Given the description of an element on the screen output the (x, y) to click on. 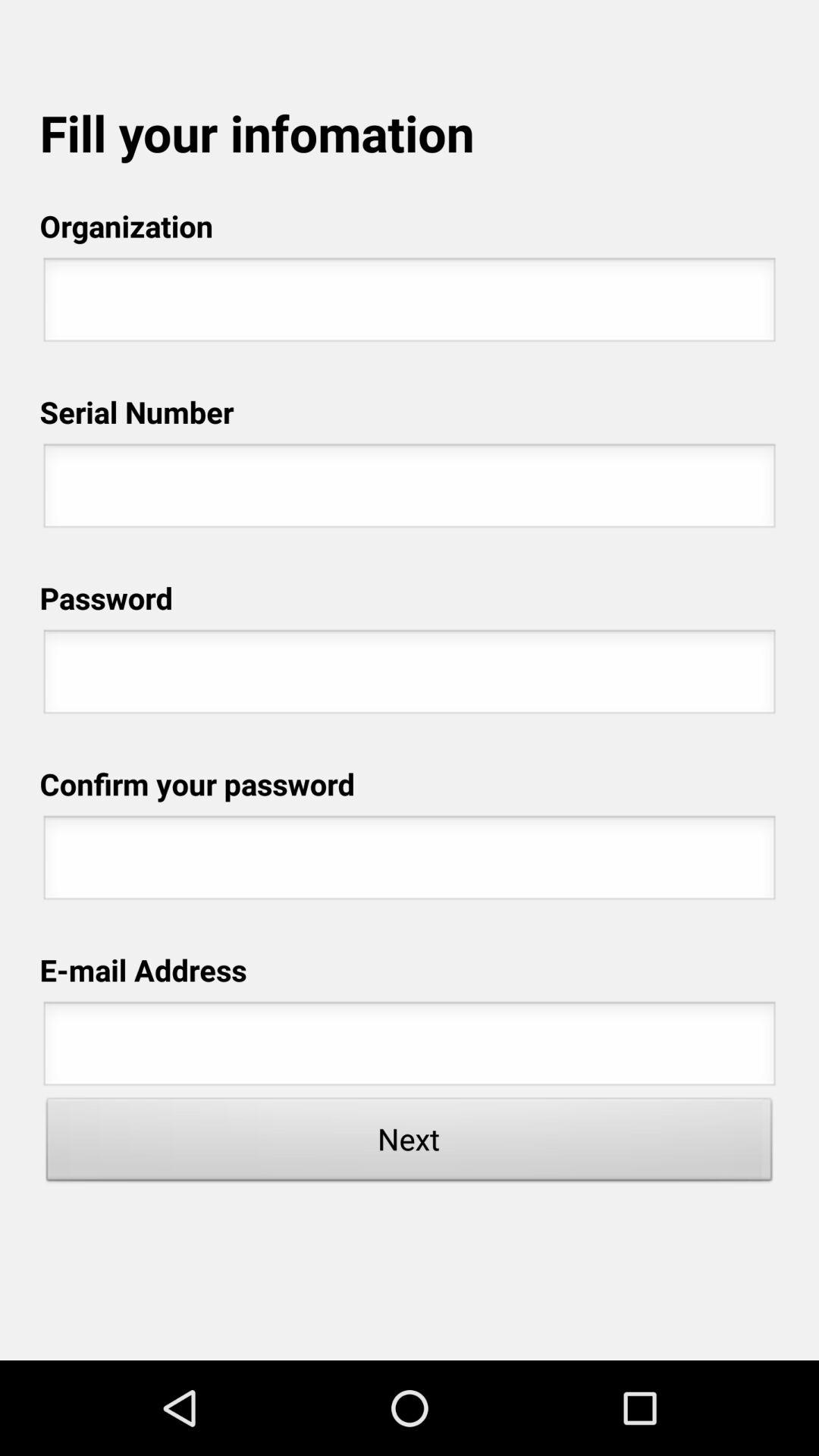
input password (409, 676)
